Given the description of an element on the screen output the (x, y) to click on. 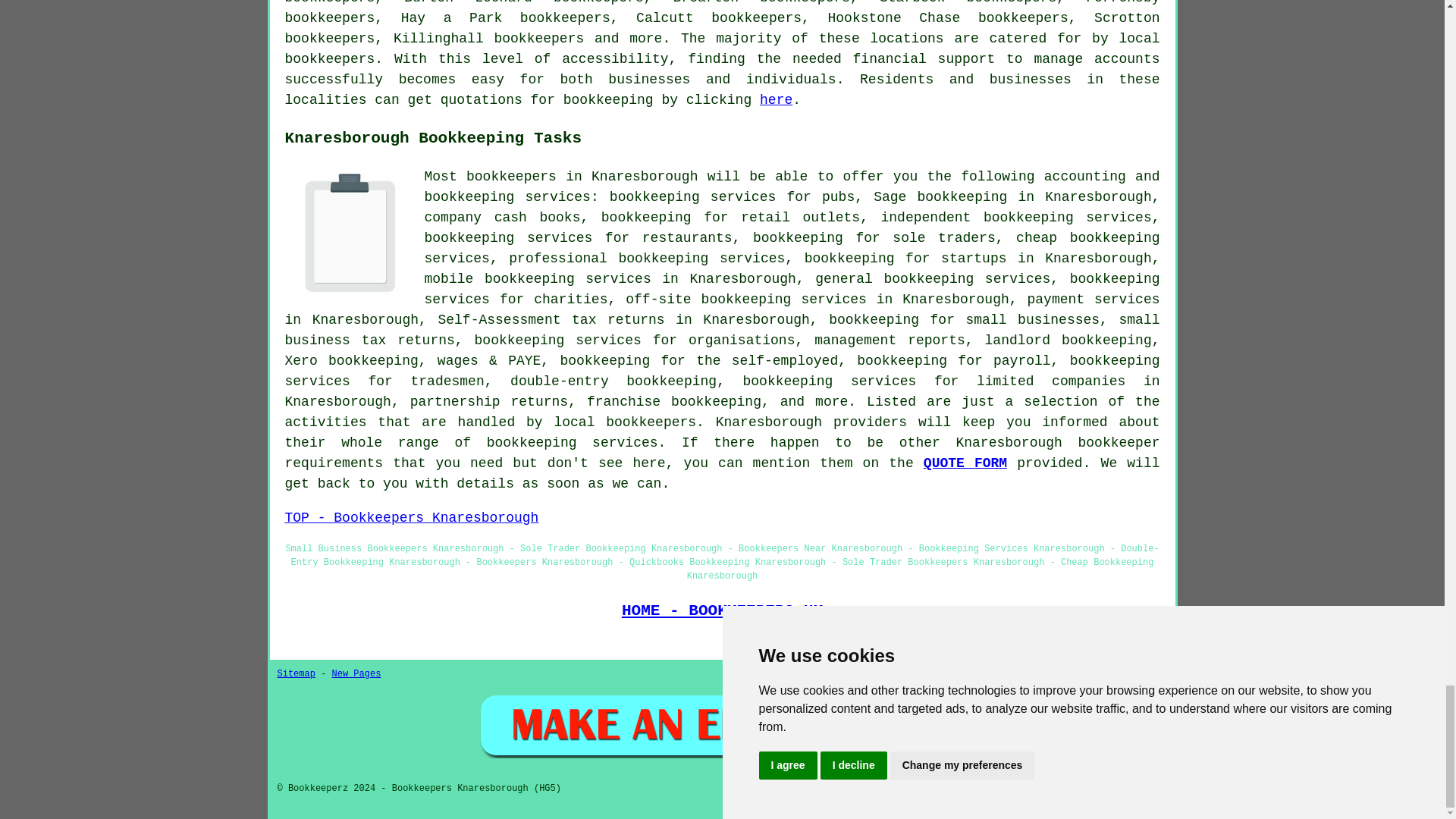
financial (889, 58)
bookkeepers (330, 58)
